Given the description of an element on the screen output the (x, y) to click on. 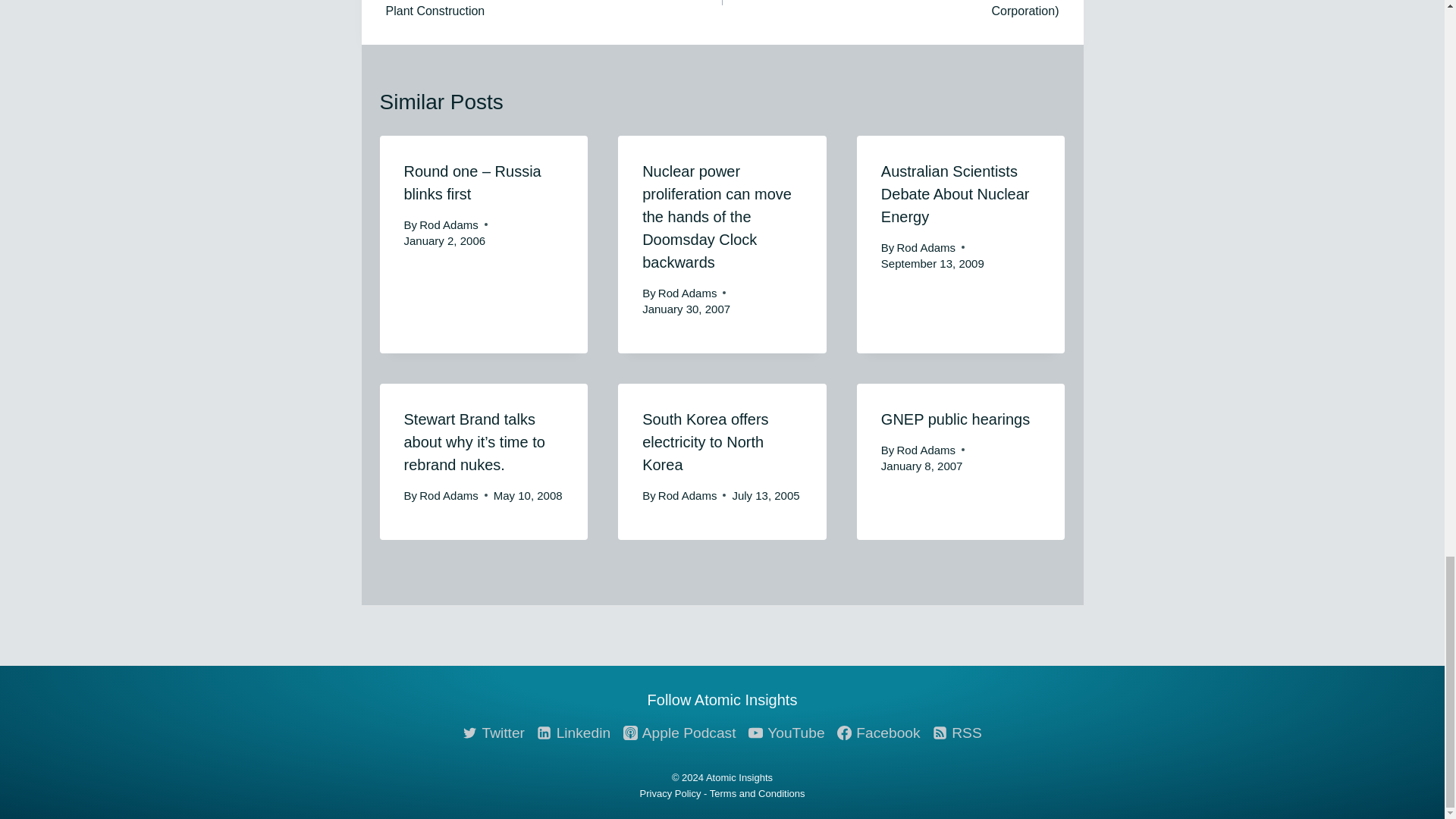
Rod Adams (926, 449)
Twitter (494, 733)
Apple Podcast (679, 733)
RSS (956, 733)
Privacy Policy - (675, 793)
Rod Adams (449, 495)
Rod Adams (687, 292)
Terms and Conditions (757, 793)
Rod Adams (926, 246)
